Given the description of an element on the screen output the (x, y) to click on. 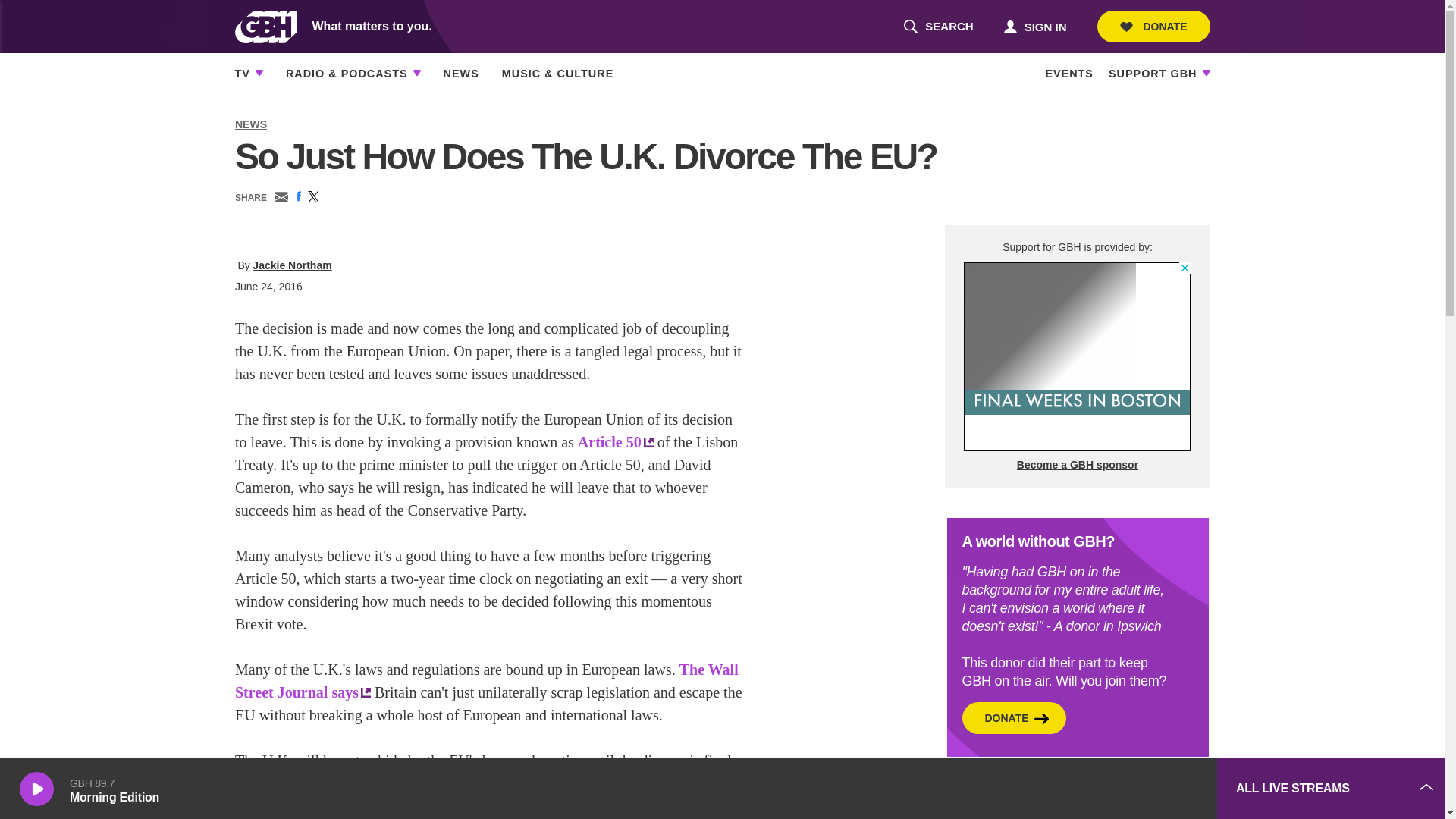
SIGN IN (937, 26)
3rd party ad content (1034, 25)
DONATE (1091, 788)
3rd party ad content (1153, 26)
